Given the description of an element on the screen output the (x, y) to click on. 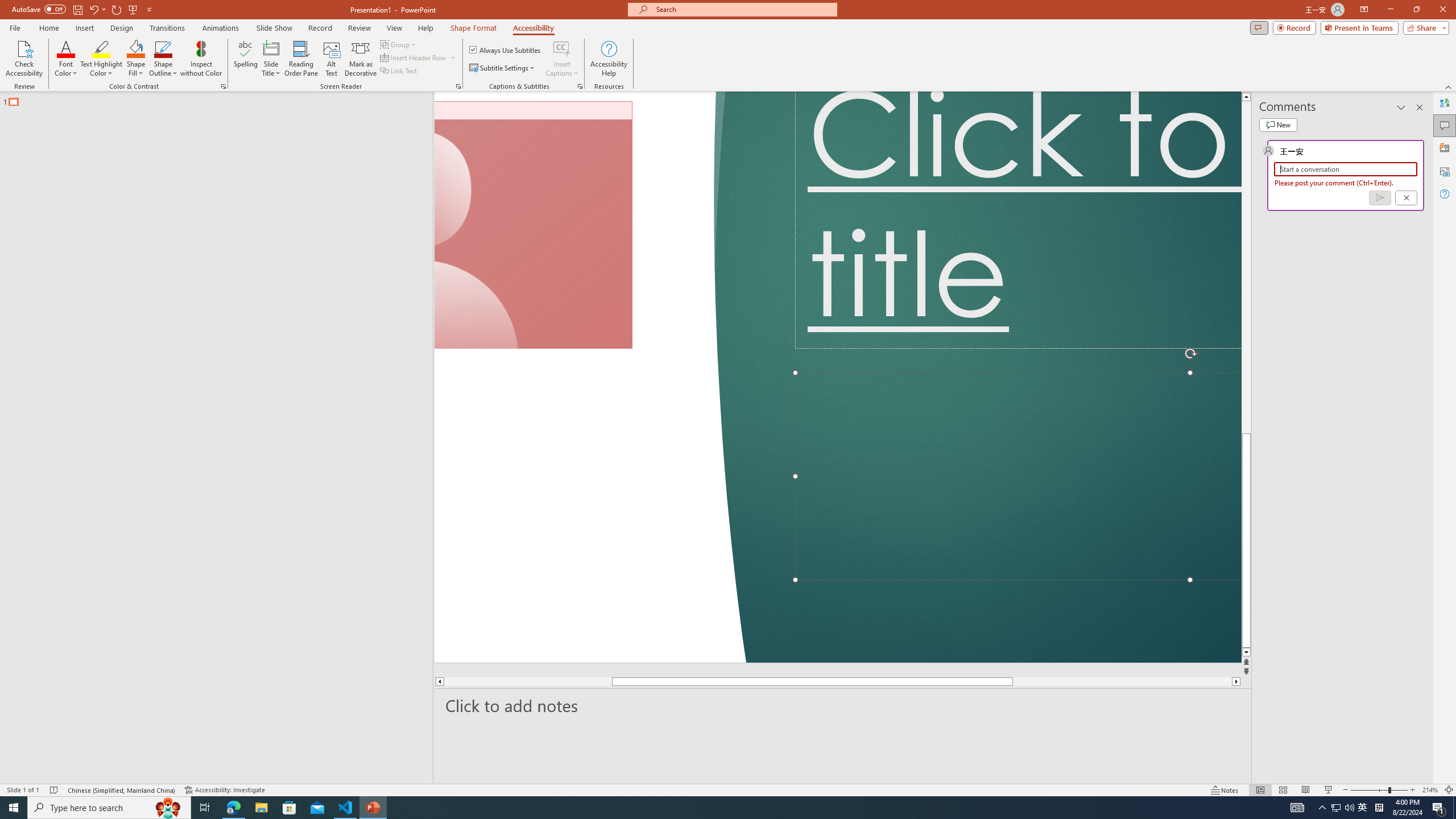
Captions & Subtitles (580, 85)
Shape Outline (163, 58)
Group (398, 44)
Insert Header Row (418, 56)
Alt Text (331, 58)
Reading Order Pane (301, 58)
New comment (1278, 124)
Cancel (1405, 197)
Post comment (Ctrl + Enter) (1379, 197)
